Given the description of an element on the screen output the (x, y) to click on. 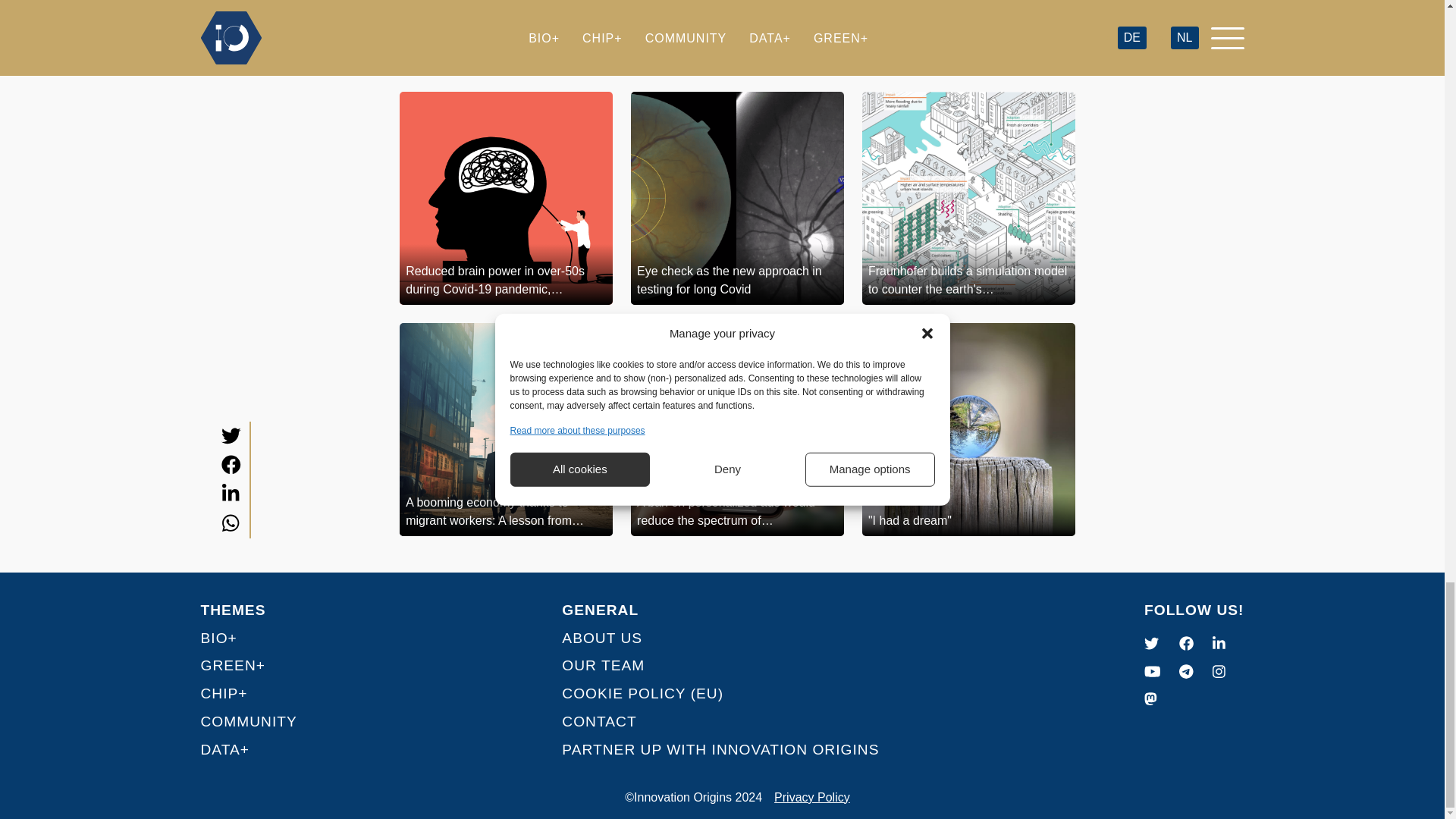
Eye check as the new approach in testing for long Covid (737, 197)
